Given the description of an element on the screen output the (x, y) to click on. 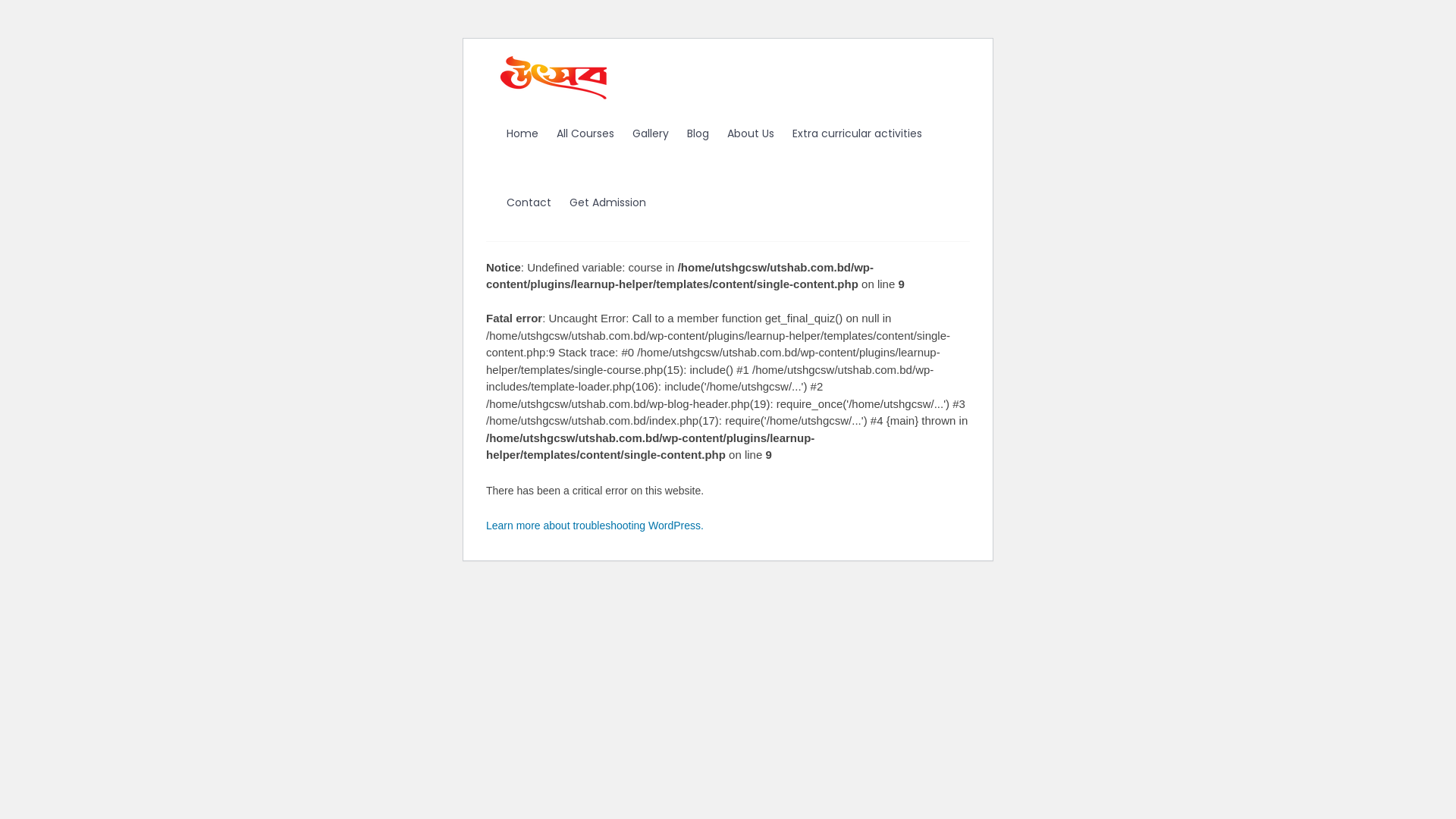
Get Admission Element type: text (607, 202)
Gallery Element type: text (650, 133)
All Courses Element type: text (585, 133)
Blog Element type: text (697, 133)
Learn more about troubleshooting WordPress. Element type: text (594, 524)
Extra curricular activities Element type: text (857, 133)
Home Element type: text (522, 133)
About Us Element type: text (750, 133)
Contact Element type: text (528, 202)
